Given the description of an element on the screen output the (x, y) to click on. 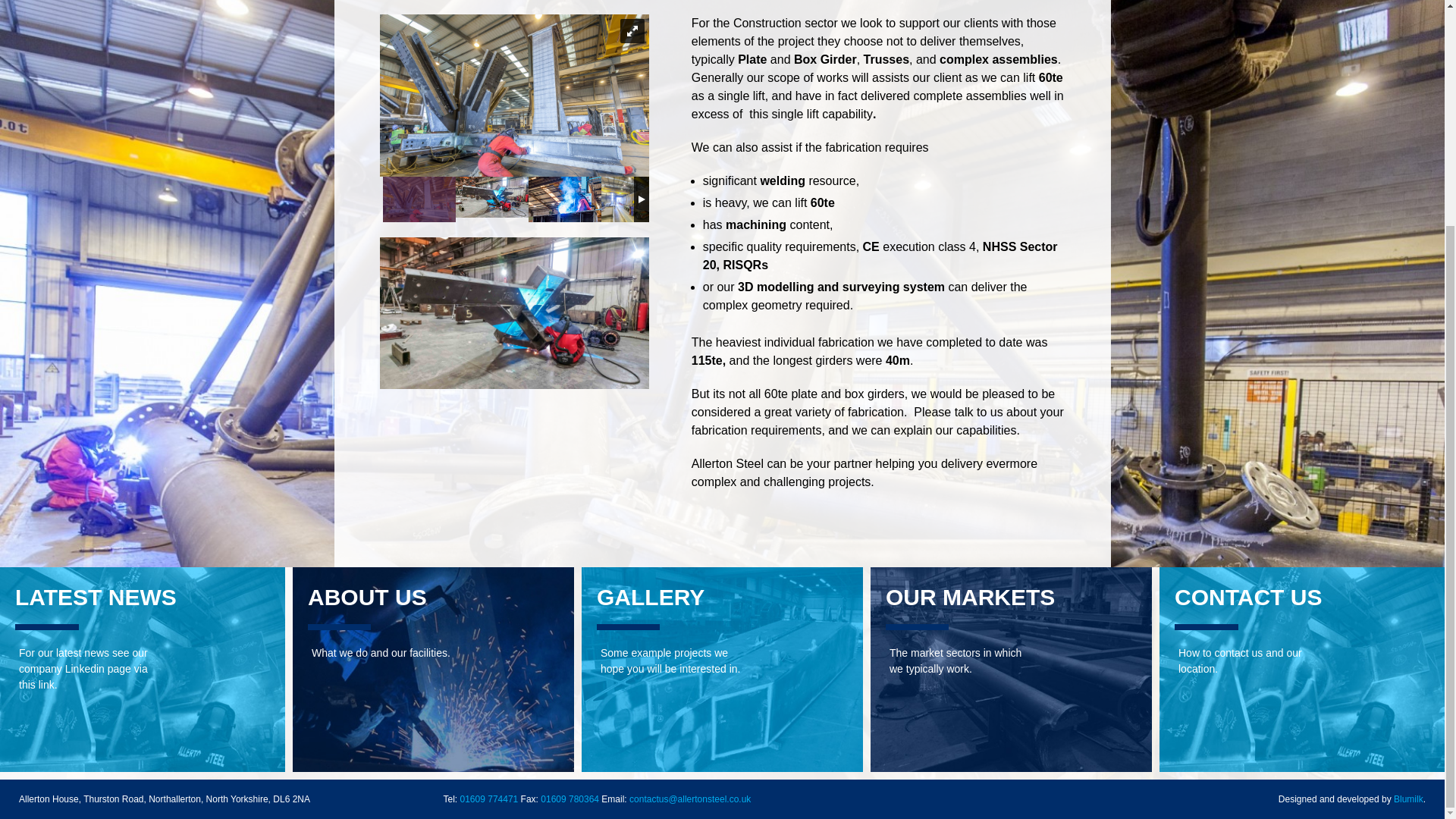
01609 780364 (569, 798)
01609 774471 (489, 798)
Blumilk (1408, 798)
